Given the description of an element on the screen output the (x, y) to click on. 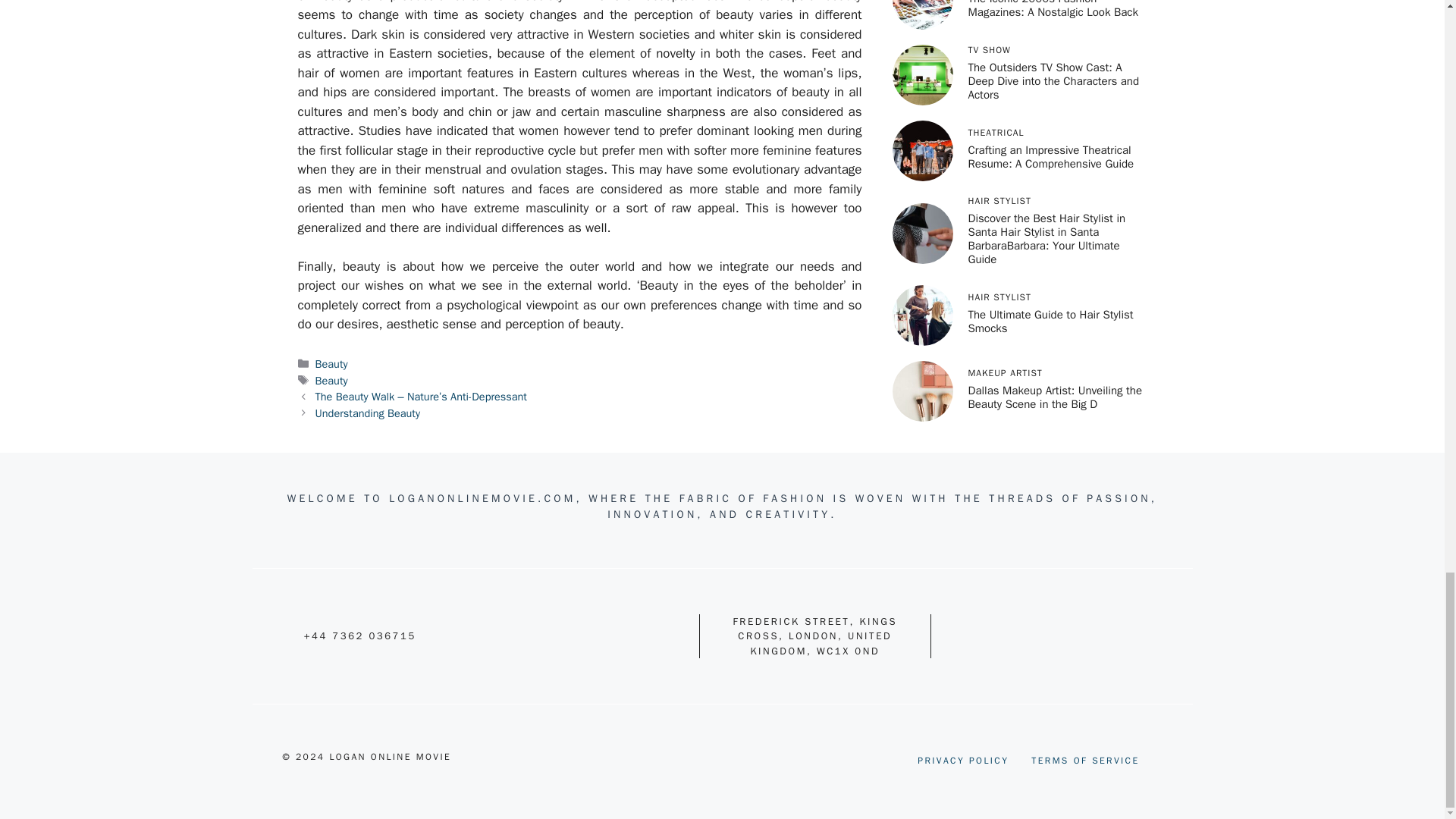
PRIVACY POLICY (963, 760)
Beauty (331, 379)
Beauty (331, 364)
TERMS OF SERVICE (1084, 760)
Understanding Beauty (367, 413)
